Given the description of an element on the screen output the (x, y) to click on. 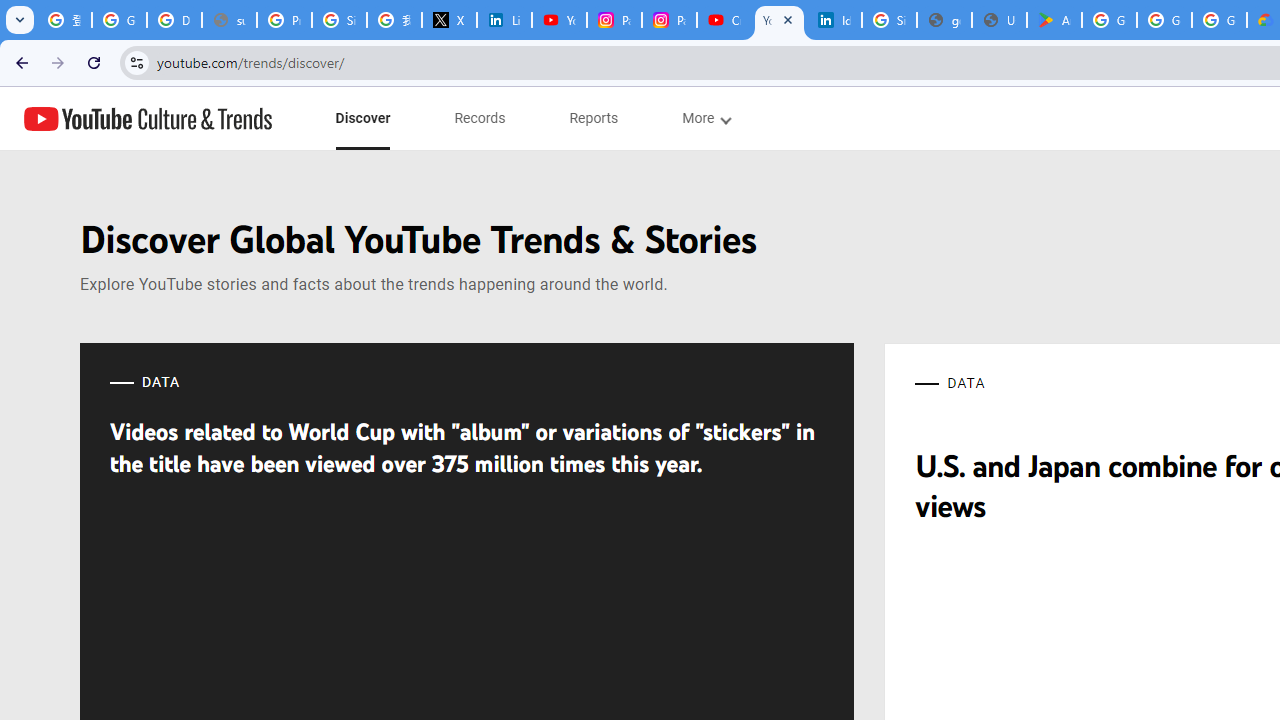
subnav-Reports menupopup (594, 118)
support.google.com - Network error (229, 20)
subnav-Records menupopup (479, 118)
Sign in - Google Accounts (339, 20)
Android Apps on Google Play (1053, 20)
subnav-Discover menupopup (362, 118)
google_privacy_policy_en.pdf (943, 20)
subnav-Discover menupopup (362, 118)
